Given the description of an element on the screen output the (x, y) to click on. 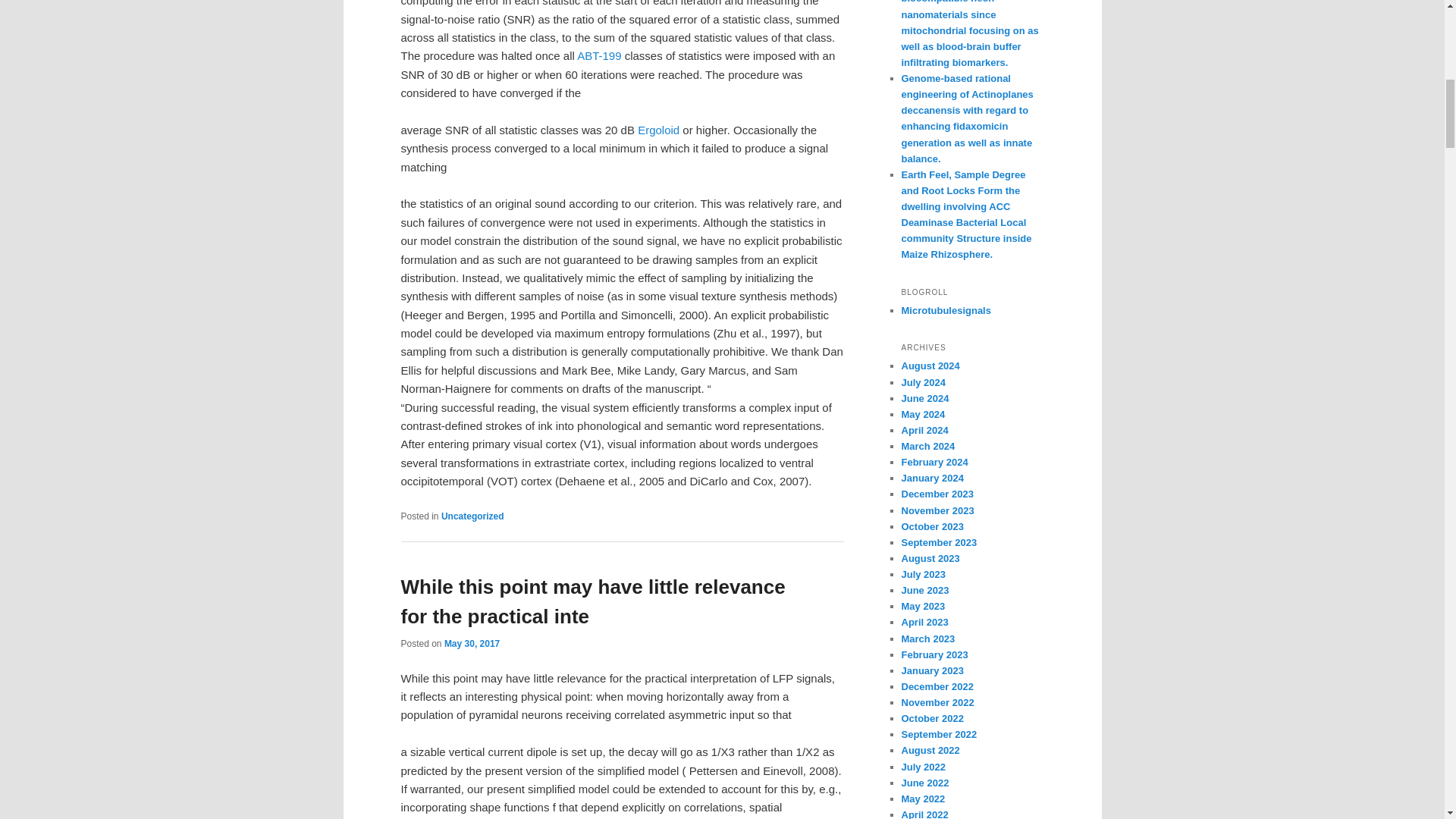
3:43 am (471, 643)
Ergoloid (658, 129)
View all posts in Uncategorized (472, 516)
Uncategorized (472, 516)
ABT-199 (598, 55)
May 30, 2017 (471, 643)
